Given the description of an element on the screen output the (x, y) to click on. 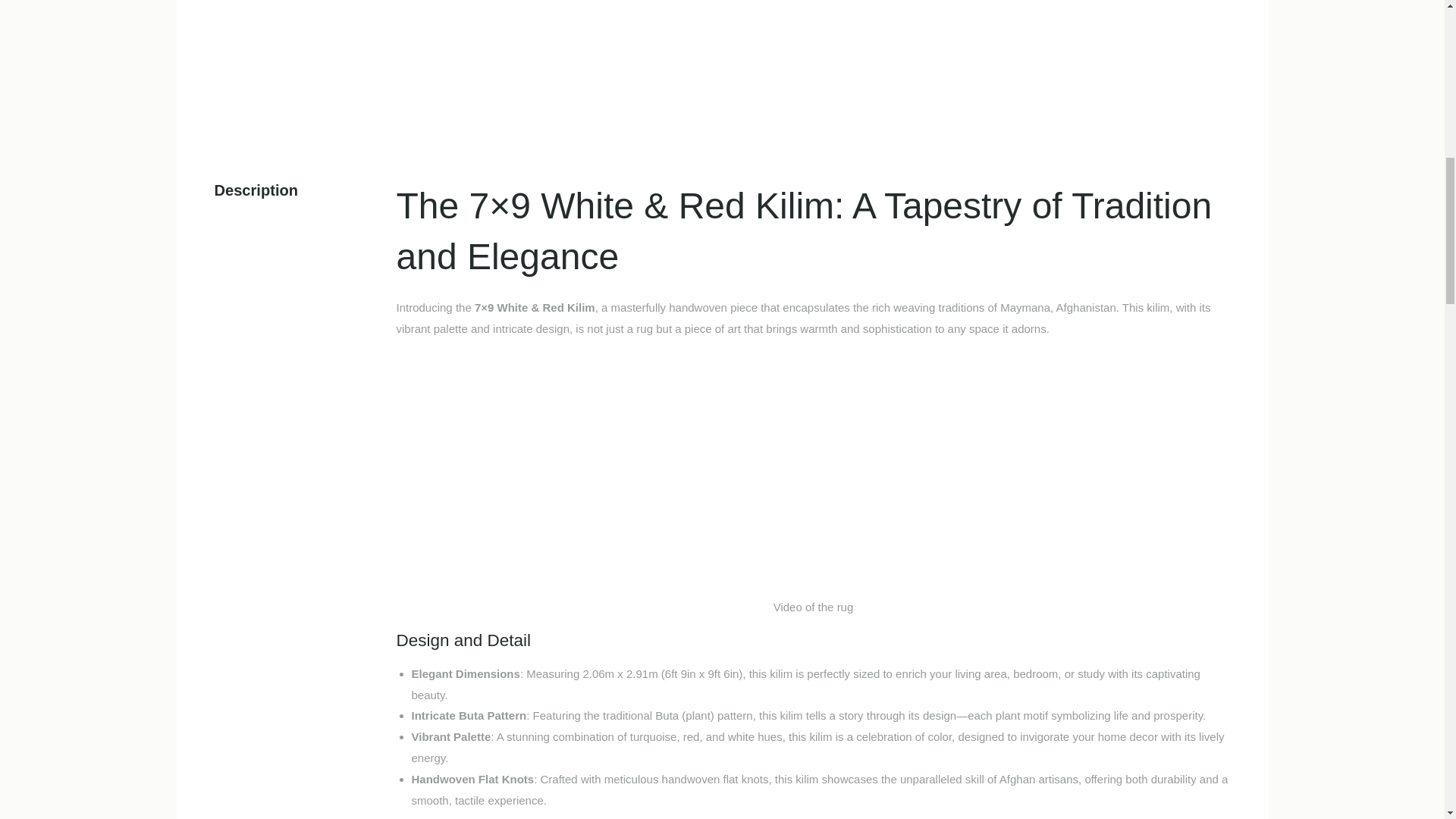
YouTube video player (812, 470)
